Given the description of an element on the screen output the (x, y) to click on. 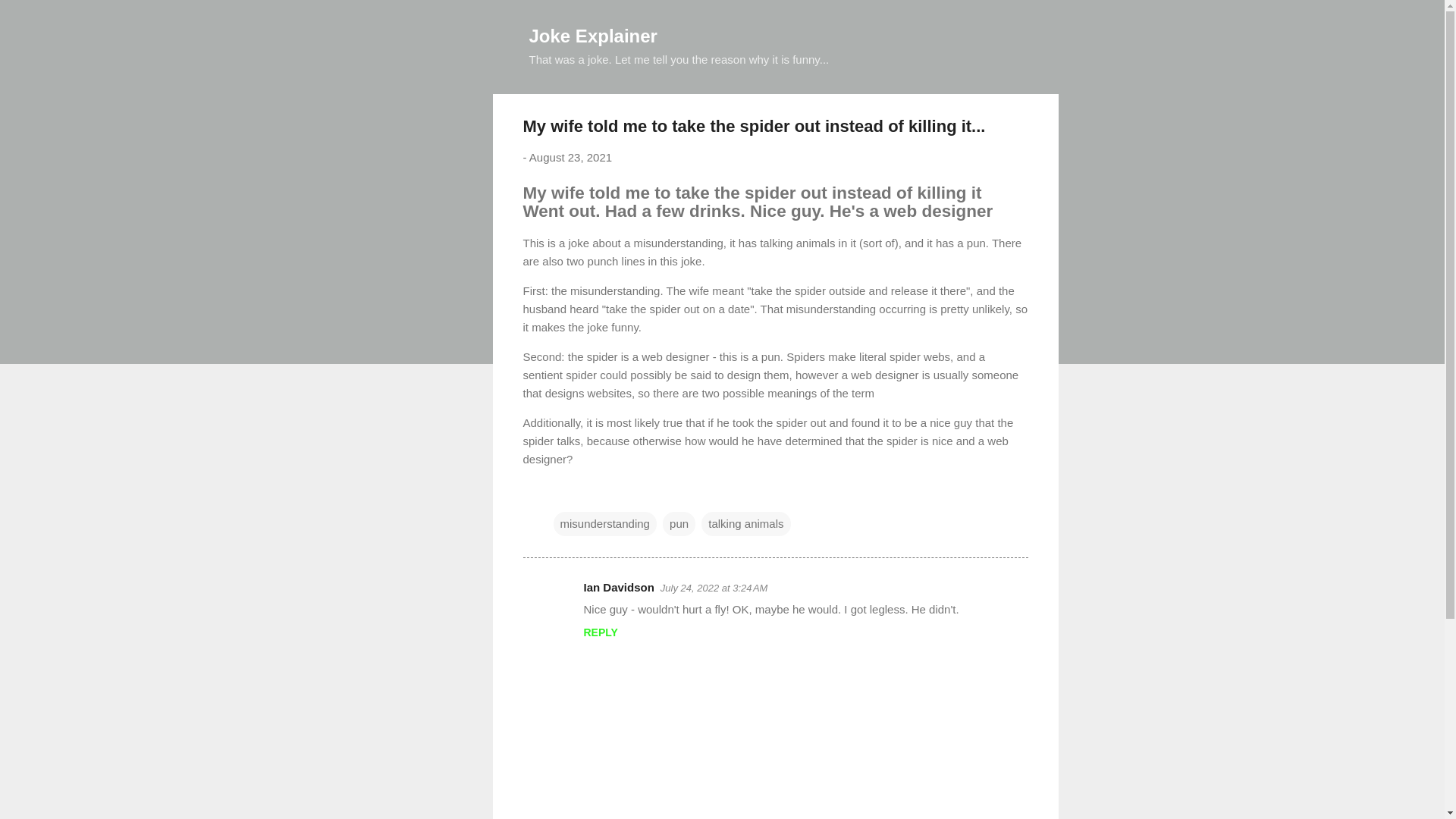
permanent link (570, 156)
REPLY (600, 632)
Search (29, 18)
August 23, 2021 (570, 156)
talking animals (745, 523)
misunderstanding (604, 523)
Joke Explainer (593, 35)
Ian Davidson (618, 586)
pun (678, 523)
